Given the description of an element on the screen output the (x, y) to click on. 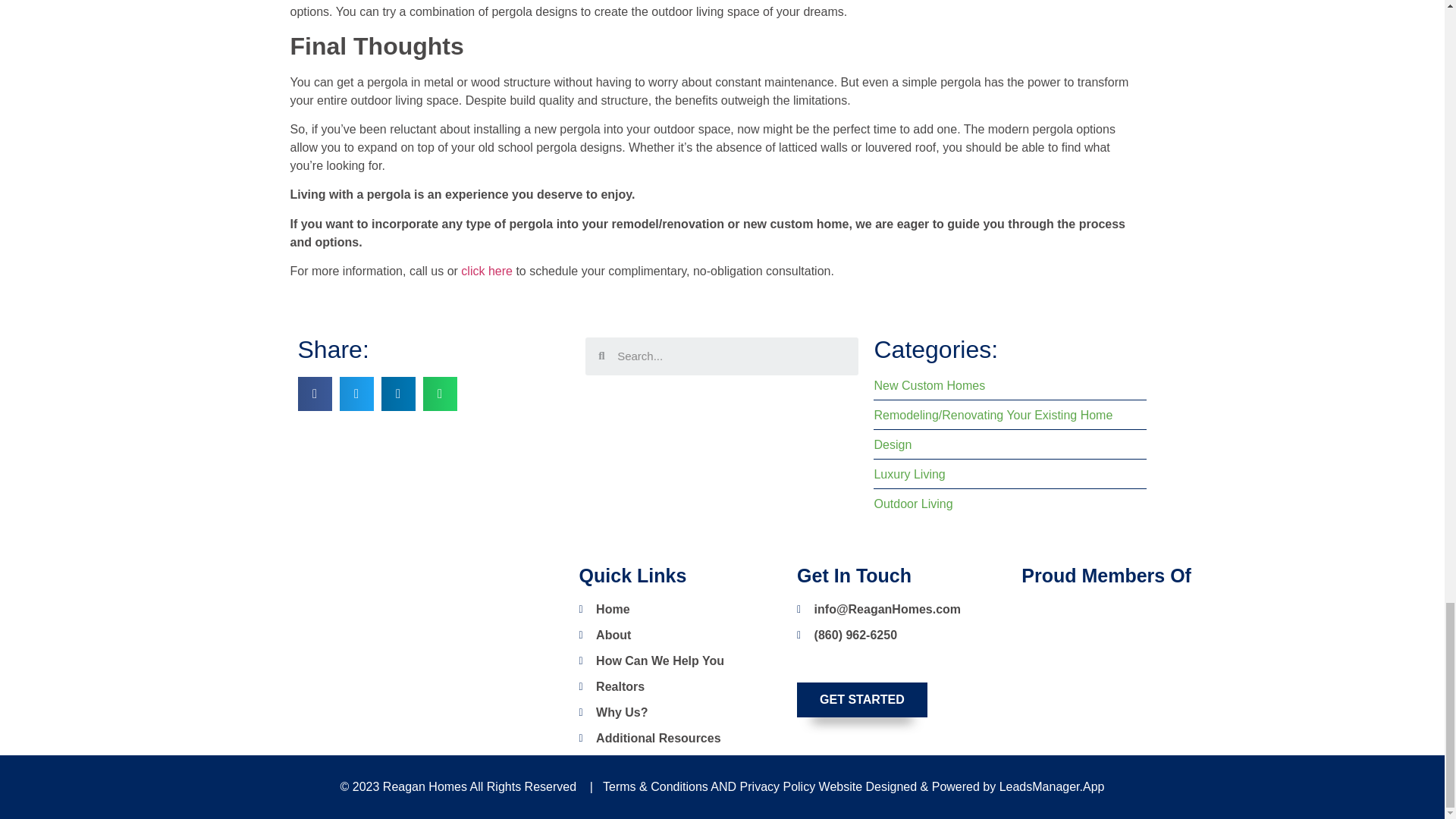
How Can We Help You (681, 660)
Realtors (681, 687)
Outdoor Living (1010, 504)
click here (486, 270)
Luxury Living (1010, 475)
Why Us? (681, 712)
EmbeddedImage (1158, 703)
About (681, 635)
Search (731, 356)
Home (681, 609)
